Given the description of an element on the screen output the (x, y) to click on. 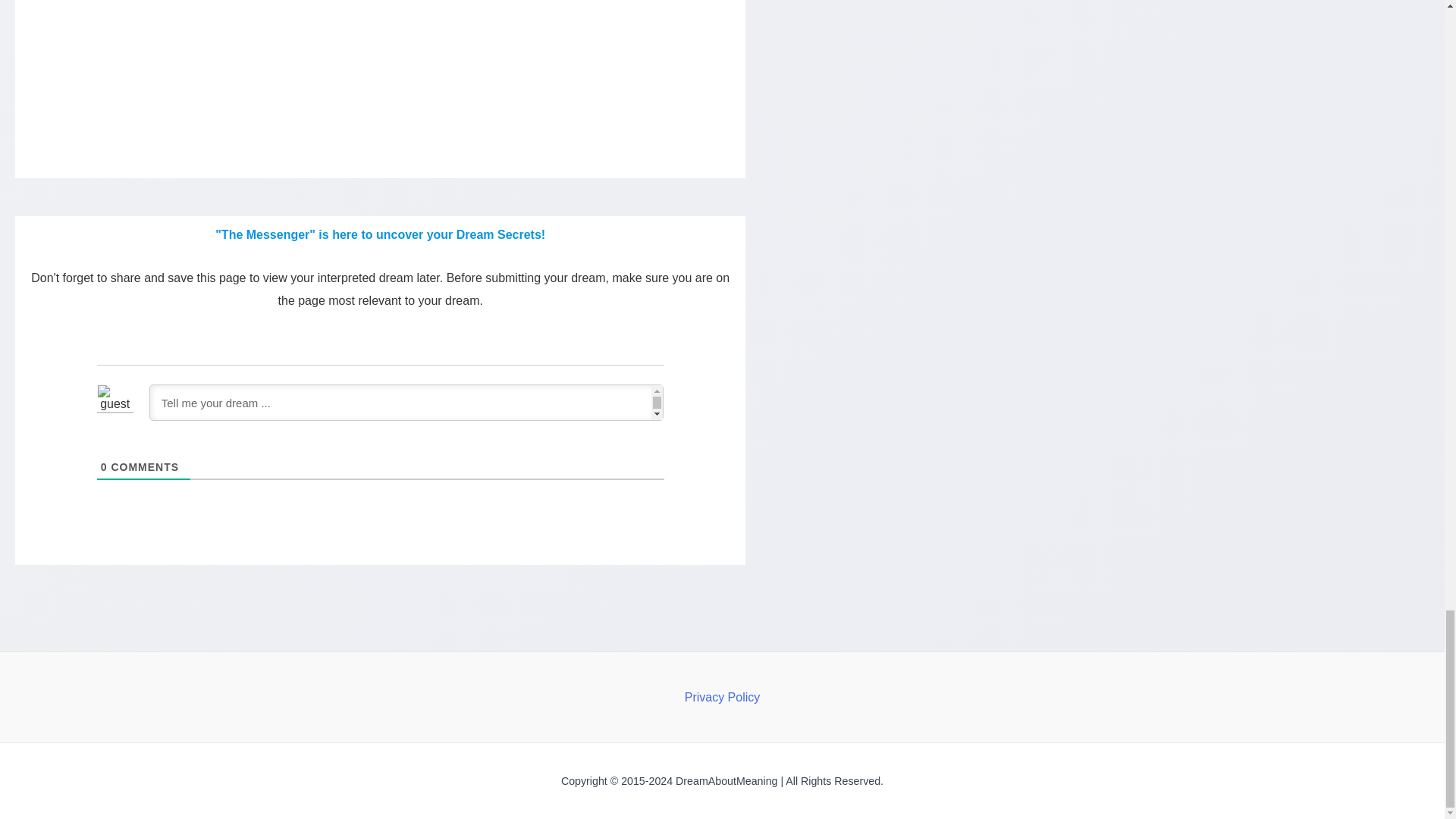
Advertisement (380, 53)
Privacy Policy (722, 697)
